Given the description of an element on the screen output the (x, y) to click on. 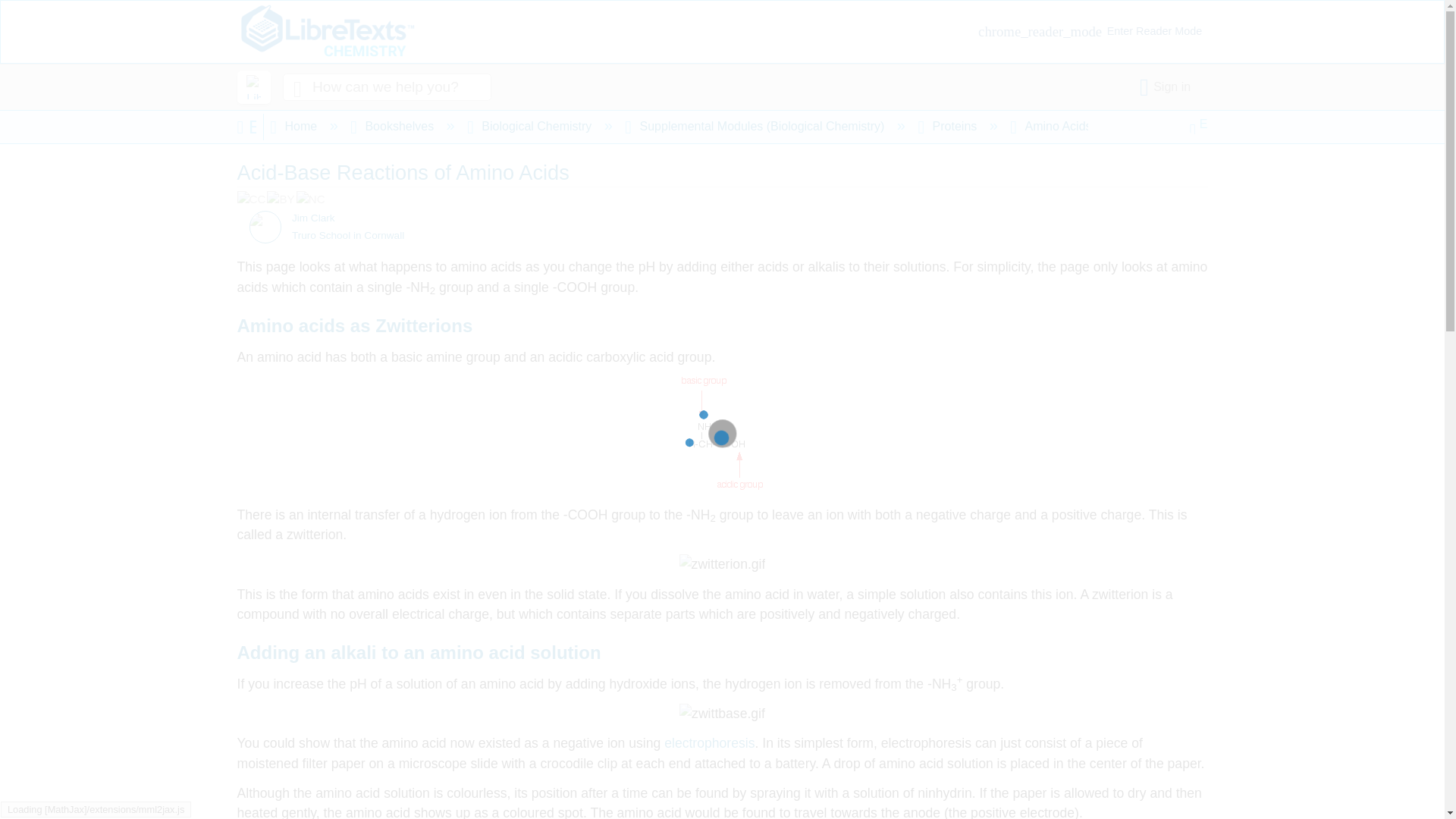
12G Electrophoresis (708, 743)
BY (280, 198)
Single Sign-On (1167, 86)
CC (250, 198)
NC (310, 198)
Jim Clark (256, 219)
